Given the description of an element on the screen output the (x, y) to click on. 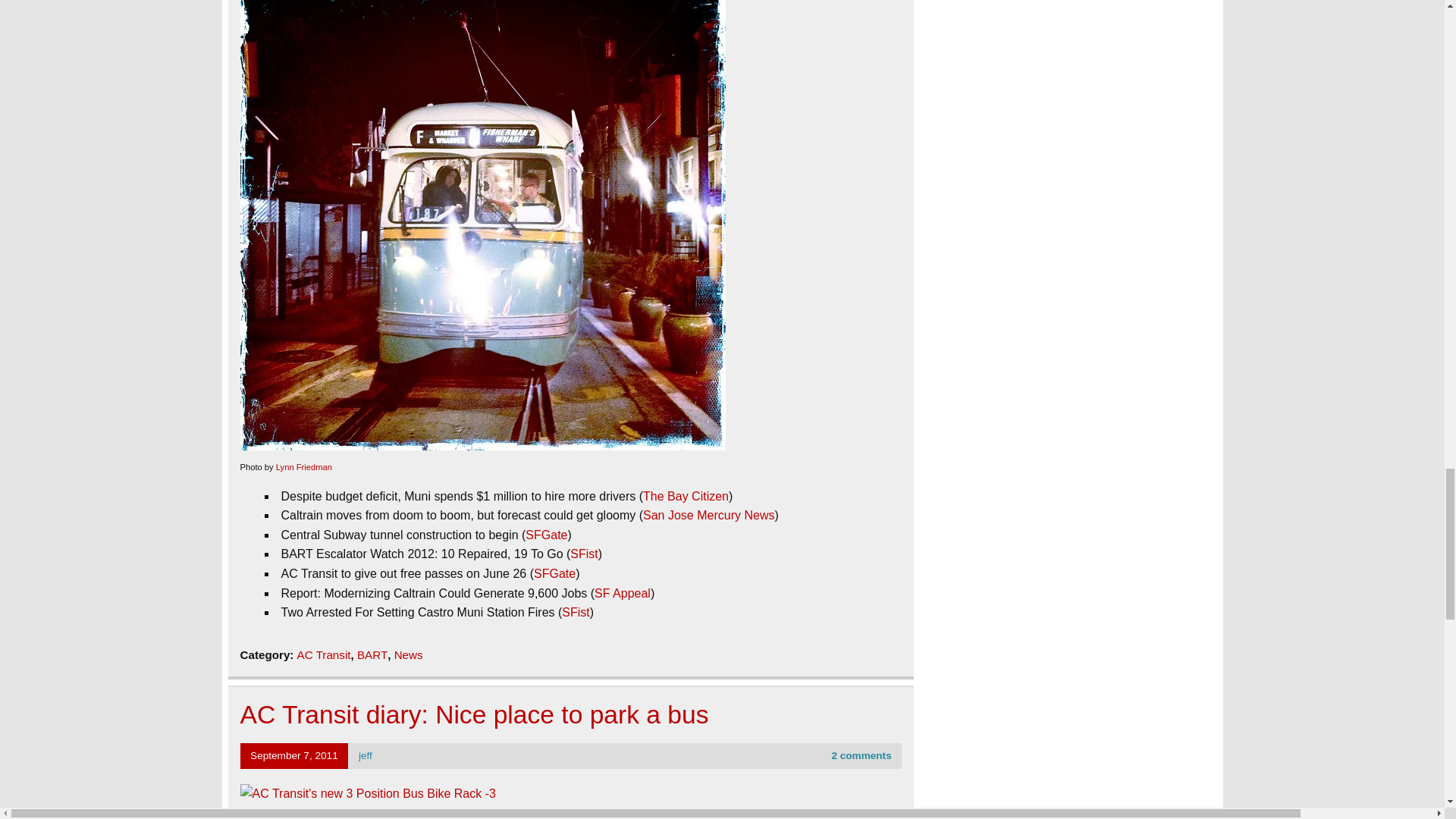
1:00 pm (293, 755)
View all posts by jeff (365, 755)
